Given the description of an element on the screen output the (x, y) to click on. 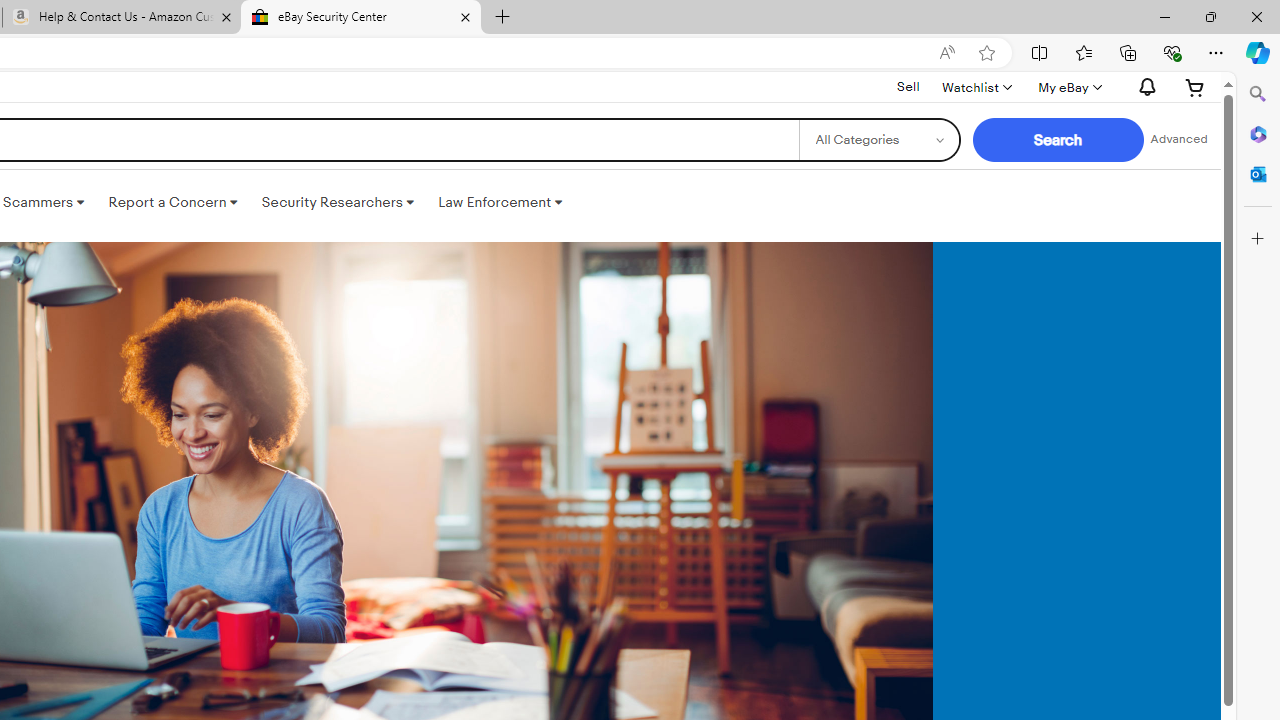
Microsoft 365 (1258, 133)
Read aloud this page (Ctrl+Shift+U) (946, 53)
Report a Concern  (173, 202)
WatchlistExpand Watch List (975, 87)
Favorites (1083, 52)
Close Outlook pane (1258, 174)
My eBayExpand My eBay (1068, 87)
Sell (907, 86)
Security Researchers  (337, 202)
